Given the description of an element on the screen output the (x, y) to click on. 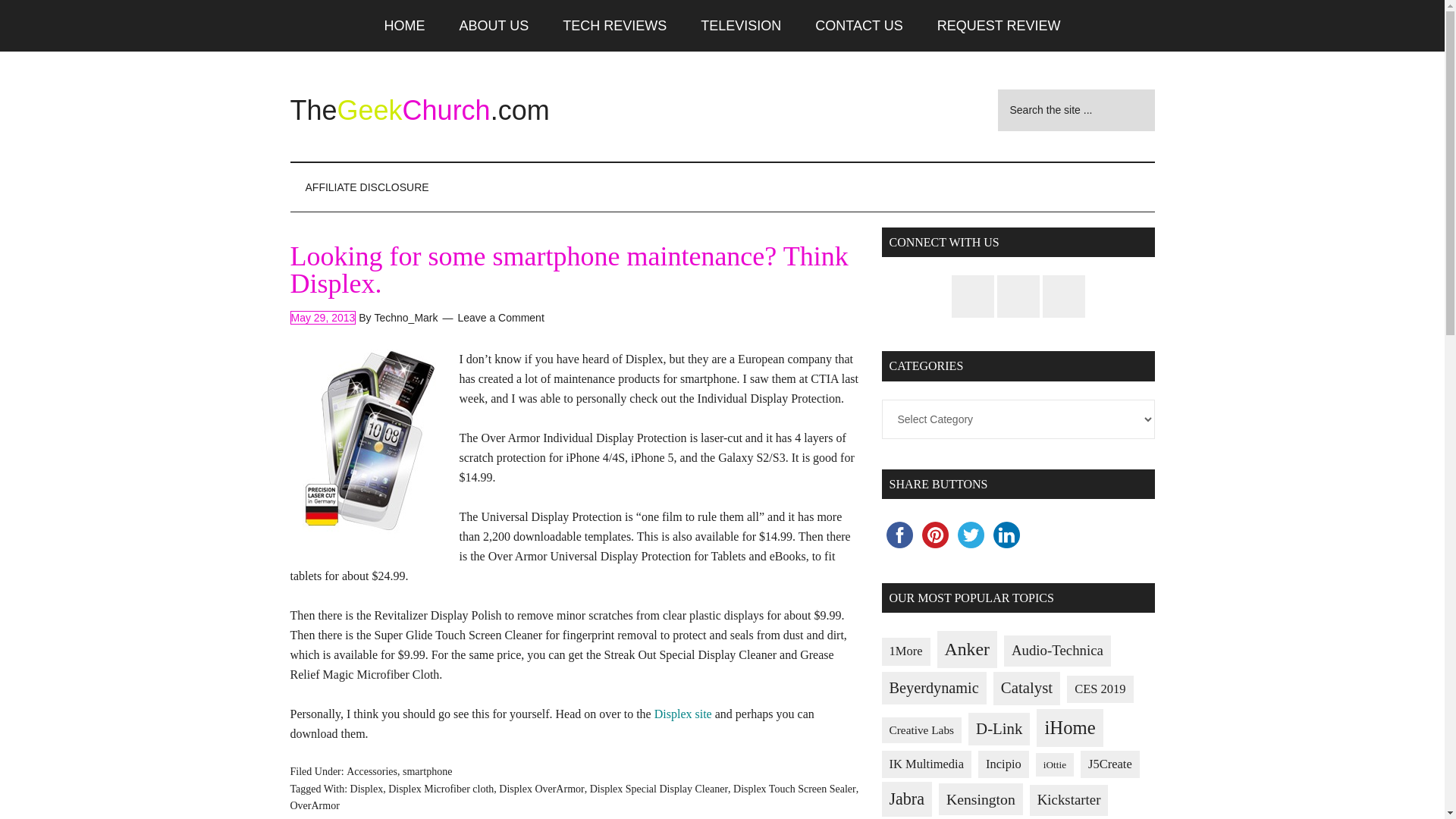
Displex site (682, 713)
TECH REVIEWS (614, 25)
Displex (367, 788)
HOME (405, 25)
CONTACT US (858, 25)
twitter (970, 534)
smartphone (427, 771)
ABOUT US (494, 25)
Displex Microfiber cloth (440, 788)
pinterest (935, 534)
Displex Touch Screen Sealer (794, 788)
Leave a Comment (500, 317)
